Given the description of an element on the screen output the (x, y) to click on. 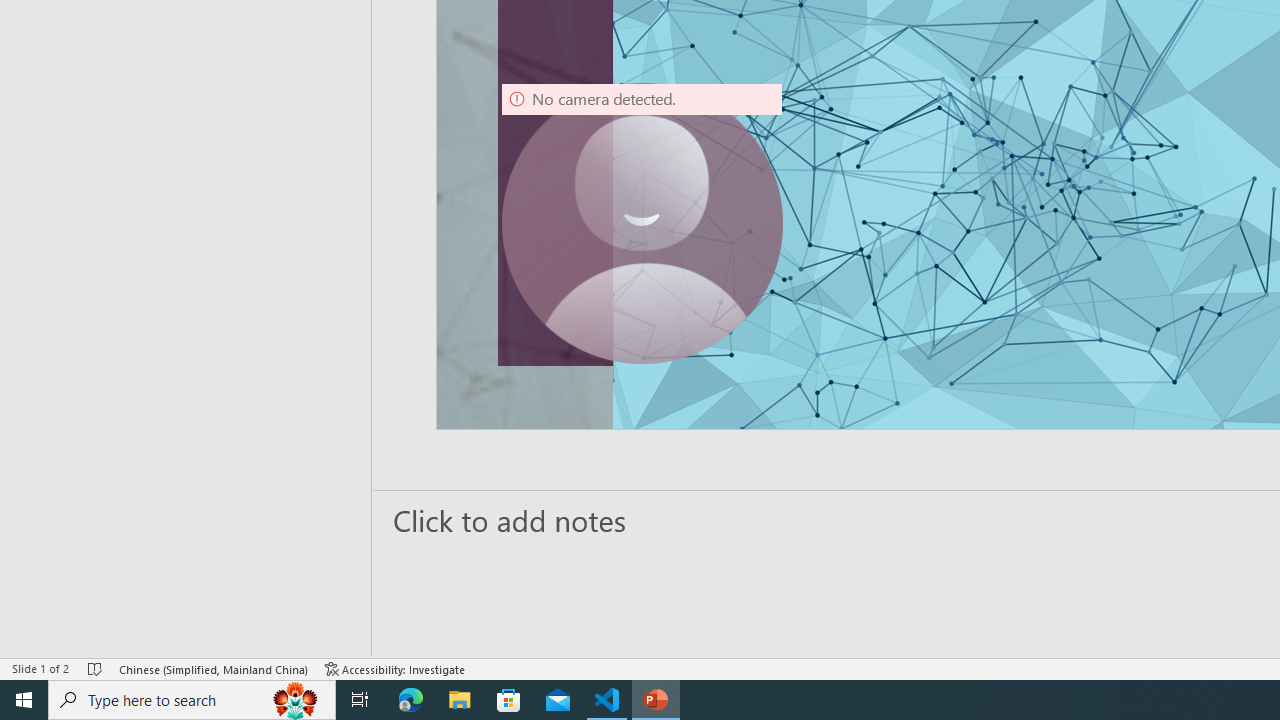
Camera 9, No camera detected. (641, 223)
Accessibility Checker Accessibility: Investigate (395, 668)
Spell Check No Errors (95, 668)
